Given the description of an element on the screen output the (x, y) to click on. 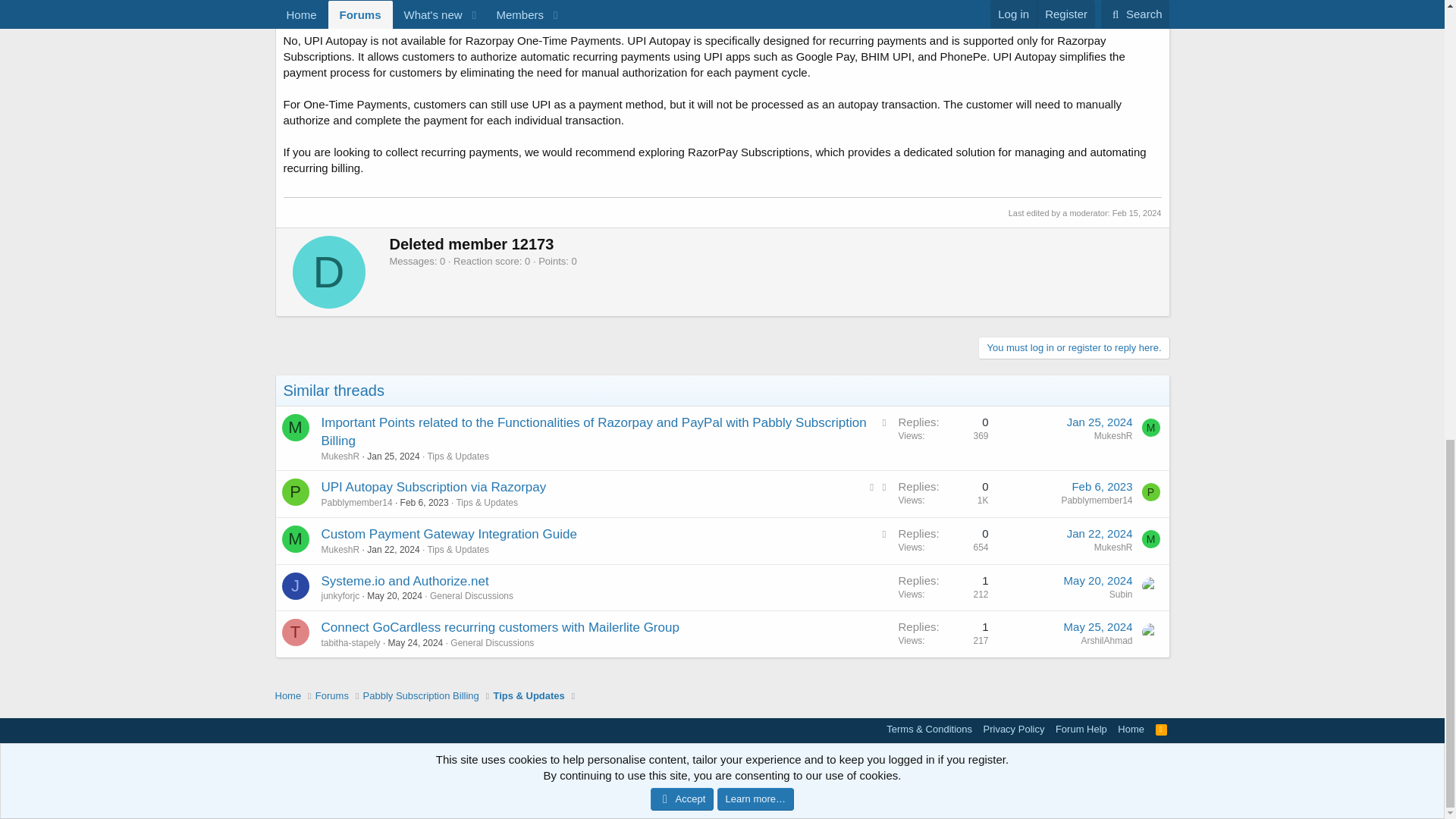
Locked (871, 486)
First message reaction score: 0 (942, 438)
Feb 6, 2023 at 4:05 PM (1101, 486)
Pabblymember14 (295, 492)
Article (884, 533)
Pabblymember14 (1150, 492)
First message reaction score: 0 (942, 493)
Jan 25, 2024 at 12:13 PM (392, 456)
Jan 25, 2024 at 12:13 PM (1099, 421)
Deleted member 12173 (328, 271)
Feb 6, 2023 at 4:05 PM (424, 502)
Article (884, 487)
Feb 15, 2024 at 12:19 PM (1136, 212)
Article (884, 422)
